Given the description of an element on the screen output the (x, y) to click on. 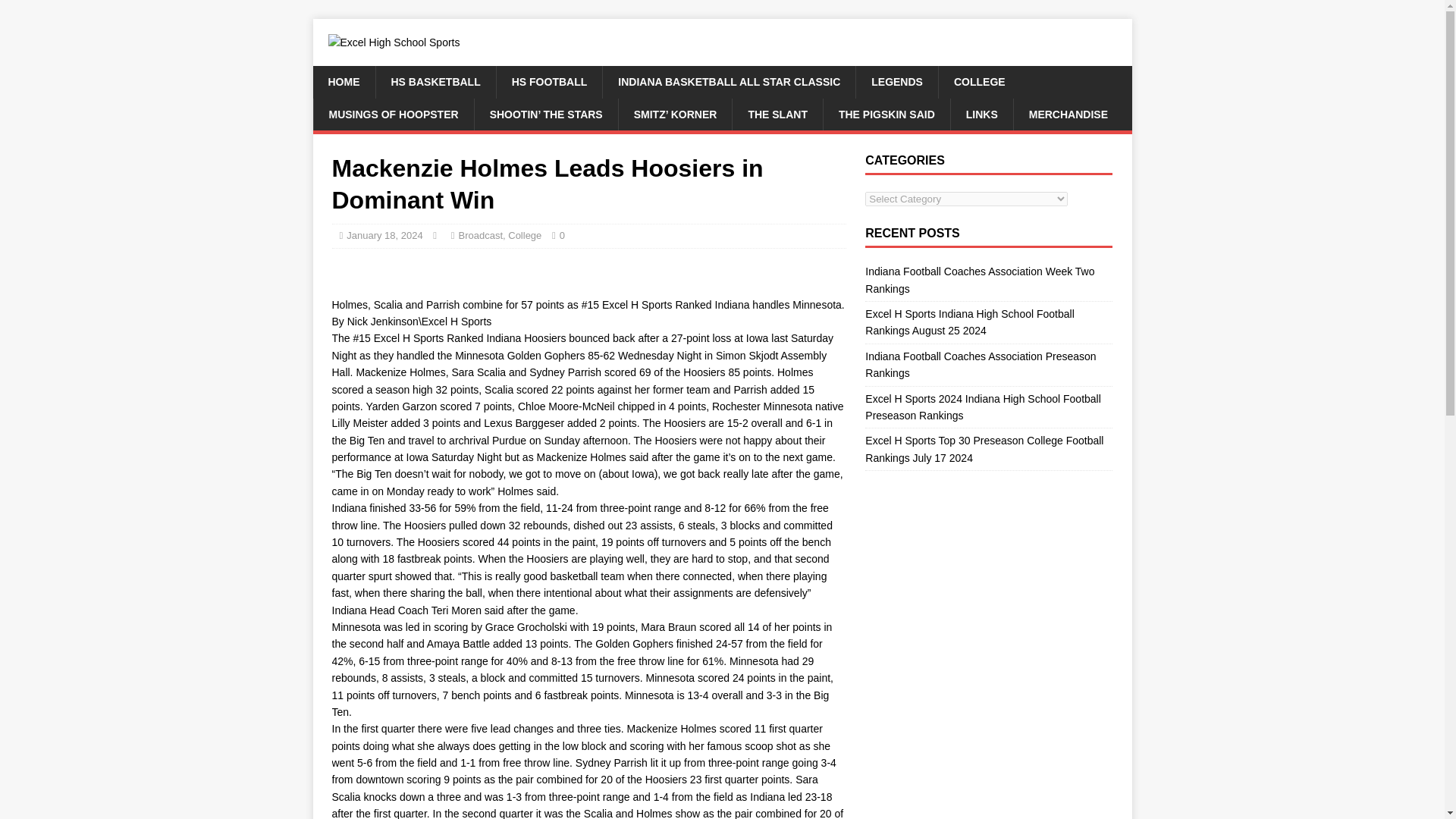
LINKS (981, 114)
HS BASKETBALL (434, 81)
THE PIGSKIN SAID (886, 114)
HS FOOTBALL (549, 81)
LEGENDS (896, 81)
Broadcast (480, 235)
MUSINGS OF HOOPSTER (393, 114)
INDIANA BASKETBALL ALL STAR CLASSIC (729, 81)
Indiana Football Coaches Association Preseason Rankings (980, 364)
